Given the description of an element on the screen output the (x, y) to click on. 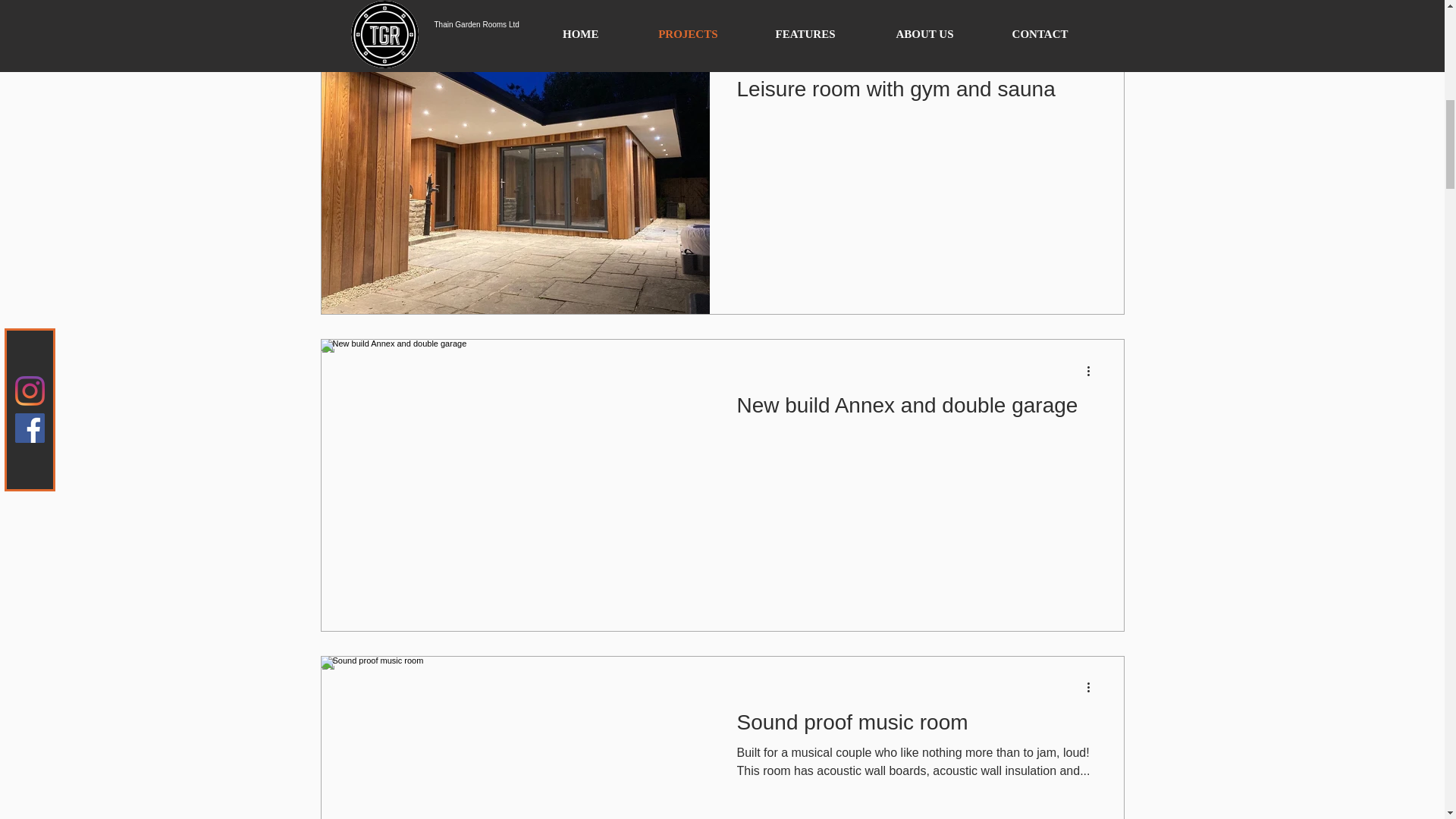
Leisure room with gym and sauna (916, 92)
New build Annex and double garage (916, 409)
Sound proof music room (916, 726)
